Given the description of an element on the screen output the (x, y) to click on. 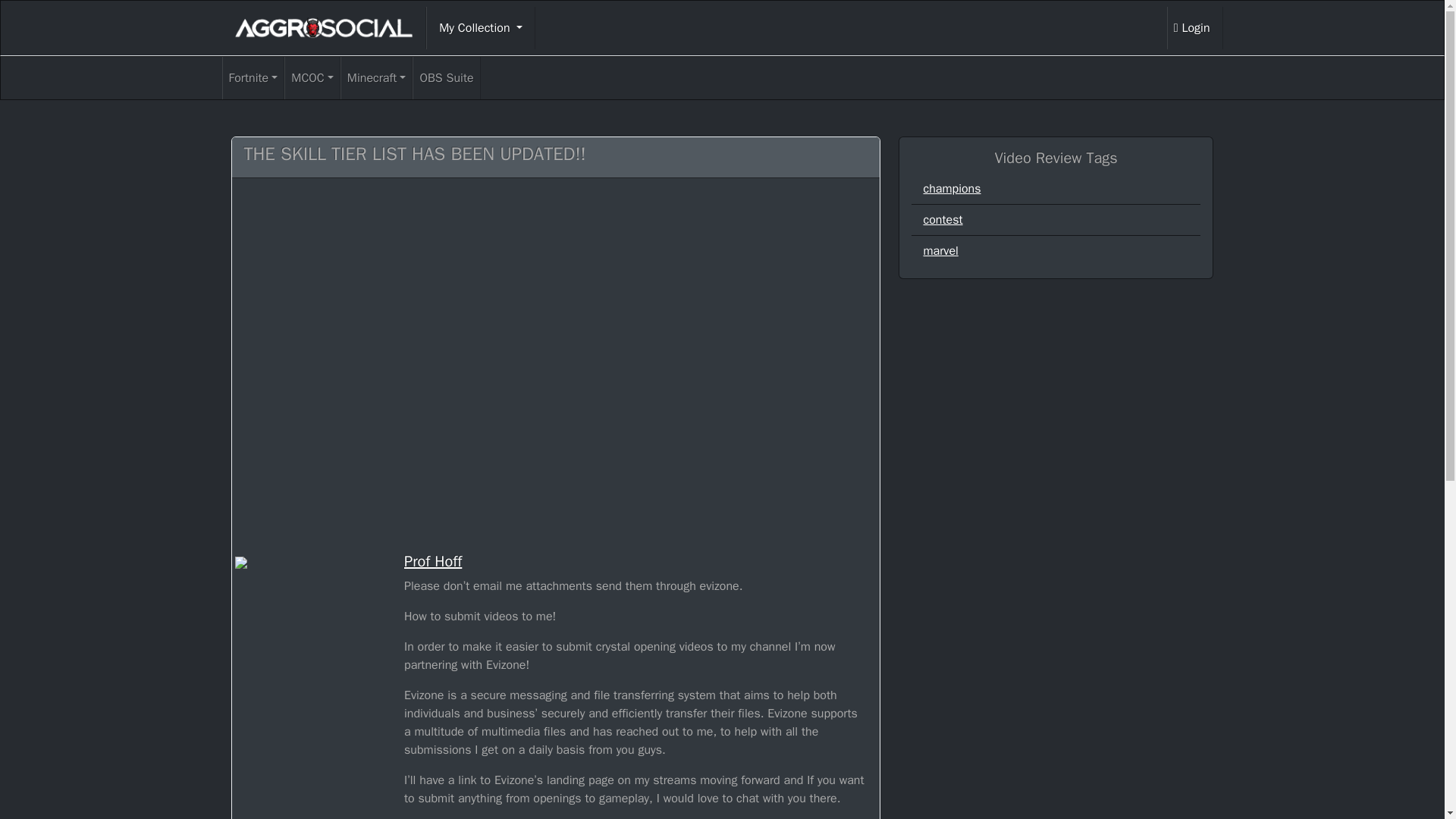
Login (1195, 27)
My Collection (480, 27)
MCOC (311, 77)
Fortnite (252, 77)
